Given the description of an element on the screen output the (x, y) to click on. 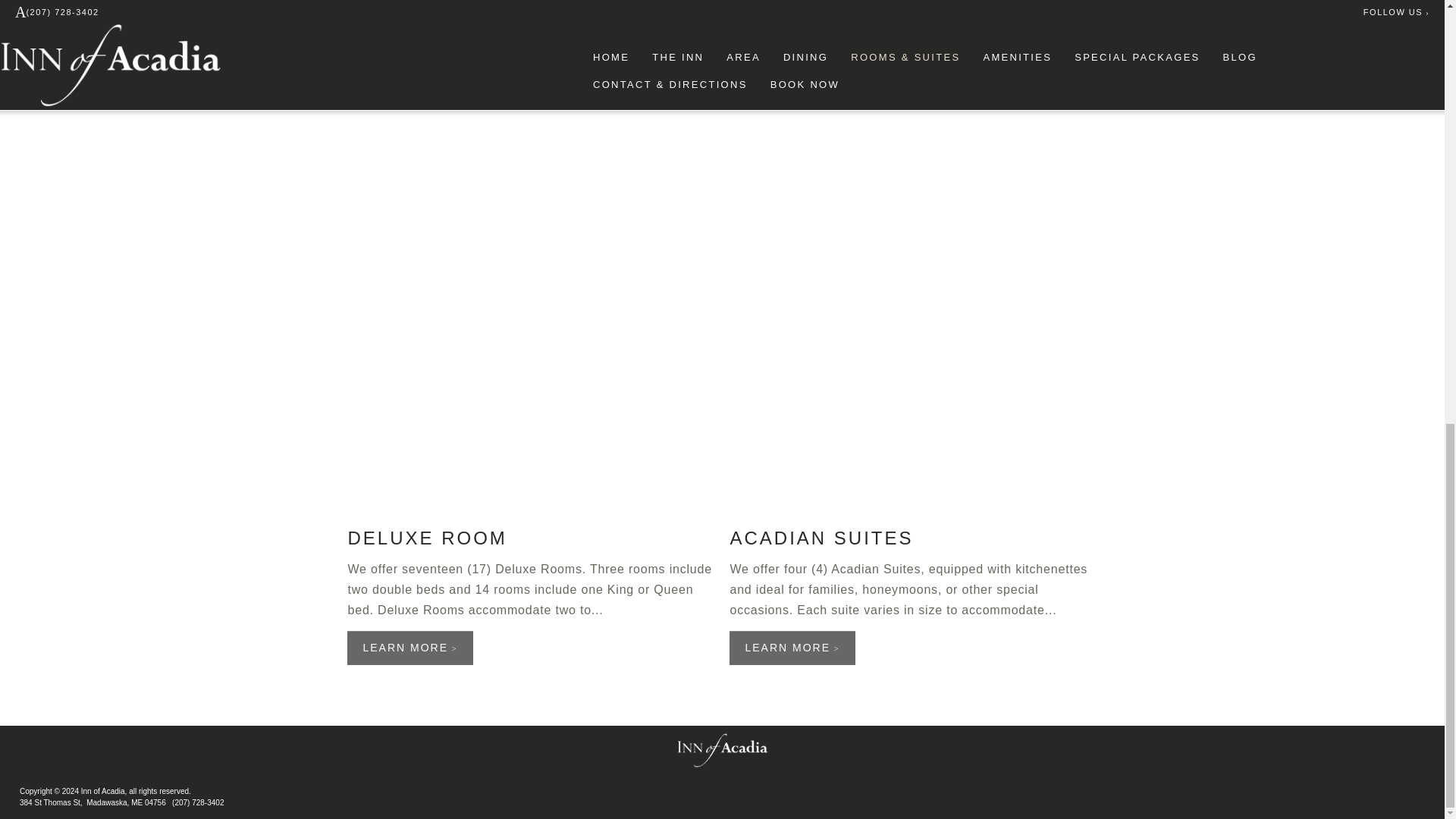
LEARN MORE (791, 647)
DELUXE ROOM (426, 537)
CONTACT US (408, 15)
ACADIAN SUITES (820, 537)
Inn of Acadia (722, 750)
LEARN MORE (409, 647)
